Given the description of an element on the screen output the (x, y) to click on. 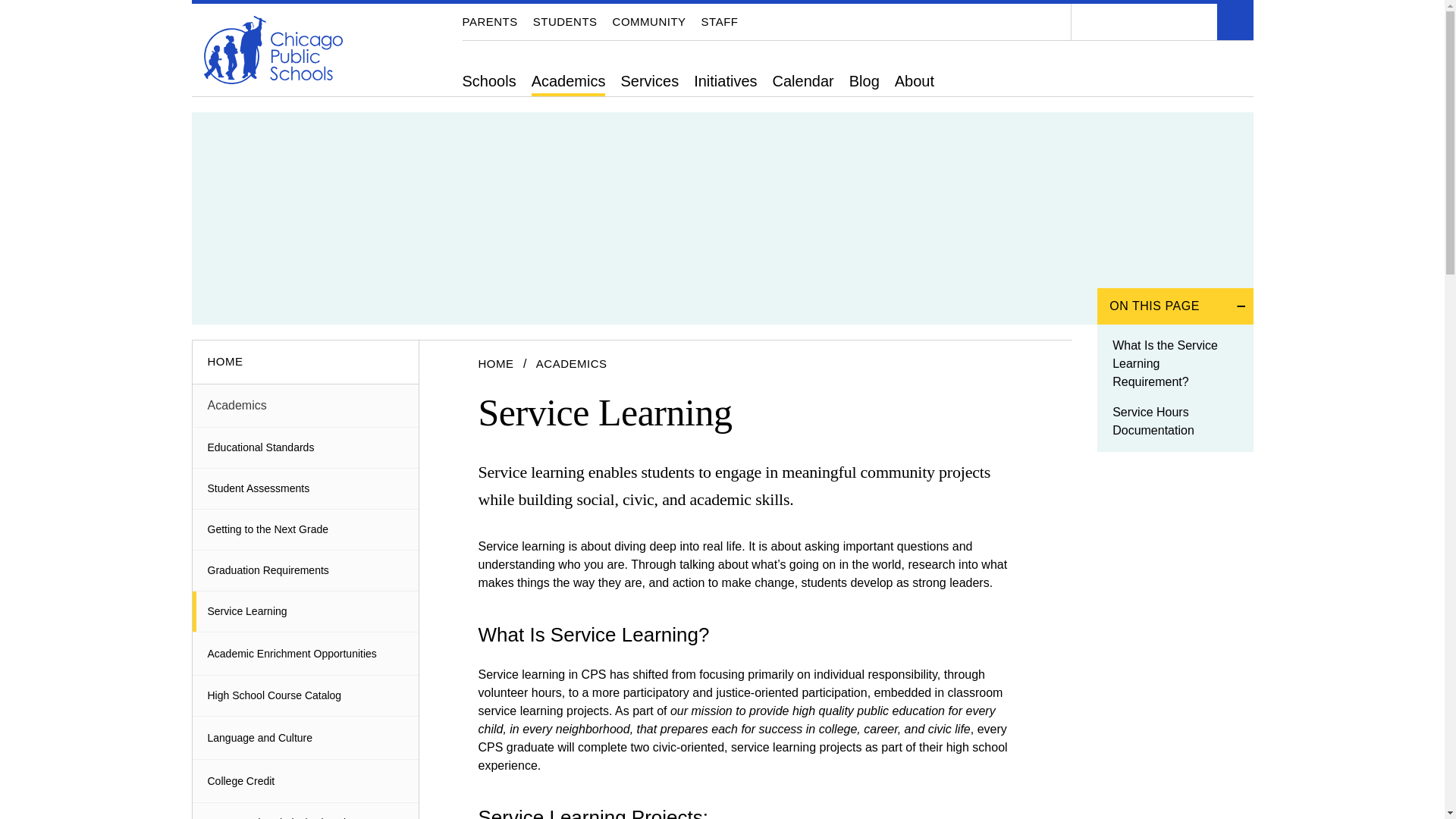
PARENTS (490, 22)
Schools (489, 81)
STAFF (719, 22)
Academics (568, 81)
Toggle Search (1233, 22)
STUDENTS (564, 22)
COMMUNITY (648, 22)
